Given the description of an element on the screen output the (x, y) to click on. 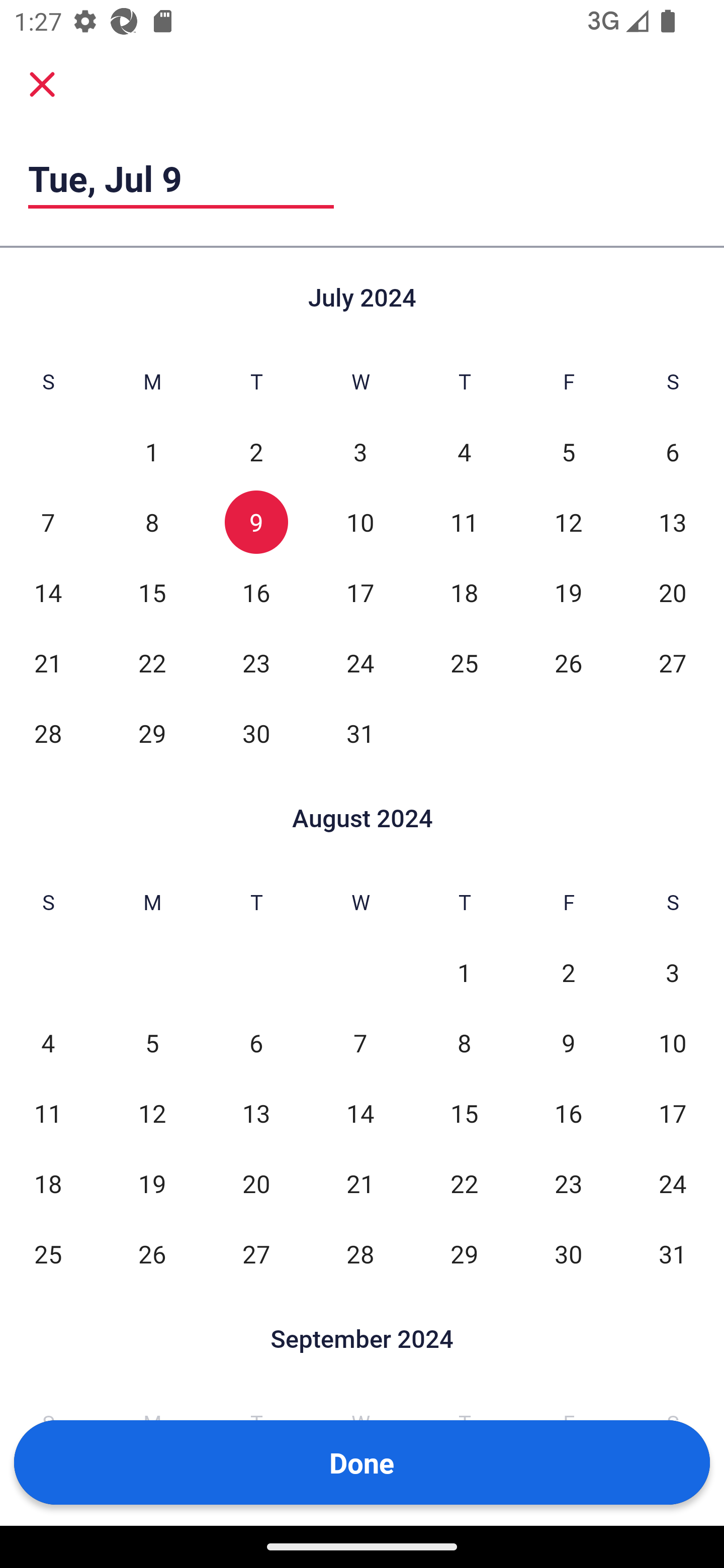
Cancel (42, 84)
Tue, Jul 9 (180, 178)
1 Mon, Jul 1, Not Selected (152, 452)
2 Tue, Jul 2, Not Selected (256, 452)
3 Wed, Jul 3, Not Selected (360, 452)
4 Thu, Jul 4, Not Selected (464, 452)
5 Fri, Jul 5, Not Selected (568, 452)
6 Sat, Jul 6, Not Selected (672, 452)
7 Sun, Jul 7, Not Selected (48, 521)
8 Mon, Jul 8, Not Selected (152, 521)
9 Tue, Jul 9, Selected (256, 521)
10 Wed, Jul 10, Not Selected (360, 521)
11 Thu, Jul 11, Not Selected (464, 521)
12 Fri, Jul 12, Not Selected (568, 521)
13 Sat, Jul 13, Not Selected (672, 521)
14 Sun, Jul 14, Not Selected (48, 591)
15 Mon, Jul 15, Not Selected (152, 591)
16 Tue, Jul 16, Not Selected (256, 591)
17 Wed, Jul 17, Not Selected (360, 591)
18 Thu, Jul 18, Not Selected (464, 591)
19 Fri, Jul 19, Not Selected (568, 591)
20 Sat, Jul 20, Not Selected (672, 591)
21 Sun, Jul 21, Not Selected (48, 662)
22 Mon, Jul 22, Not Selected (152, 662)
23 Tue, Jul 23, Not Selected (256, 662)
24 Wed, Jul 24, Not Selected (360, 662)
25 Thu, Jul 25, Not Selected (464, 662)
26 Fri, Jul 26, Not Selected (568, 662)
27 Sat, Jul 27, Not Selected (672, 662)
28 Sun, Jul 28, Not Selected (48, 732)
29 Mon, Jul 29, Not Selected (152, 732)
30 Tue, Jul 30, Not Selected (256, 732)
31 Wed, Jul 31, Not Selected (360, 732)
1 Thu, Aug 1, Not Selected (464, 972)
2 Fri, Aug 2, Not Selected (568, 972)
3 Sat, Aug 3, Not Selected (672, 972)
4 Sun, Aug 4, Not Selected (48, 1043)
5 Mon, Aug 5, Not Selected (152, 1043)
6 Tue, Aug 6, Not Selected (256, 1043)
7 Wed, Aug 7, Not Selected (360, 1043)
8 Thu, Aug 8, Not Selected (464, 1043)
9 Fri, Aug 9, Not Selected (568, 1043)
10 Sat, Aug 10, Not Selected (672, 1043)
11 Sun, Aug 11, Not Selected (48, 1112)
12 Mon, Aug 12, Not Selected (152, 1112)
13 Tue, Aug 13, Not Selected (256, 1112)
14 Wed, Aug 14, Not Selected (360, 1112)
15 Thu, Aug 15, Not Selected (464, 1112)
16 Fri, Aug 16, Not Selected (568, 1112)
17 Sat, Aug 17, Not Selected (672, 1112)
18 Sun, Aug 18, Not Selected (48, 1182)
19 Mon, Aug 19, Not Selected (152, 1182)
20 Tue, Aug 20, Not Selected (256, 1182)
21 Wed, Aug 21, Not Selected (360, 1182)
22 Thu, Aug 22, Not Selected (464, 1182)
23 Fri, Aug 23, Not Selected (568, 1182)
24 Sat, Aug 24, Not Selected (672, 1182)
25 Sun, Aug 25, Not Selected (48, 1253)
26 Mon, Aug 26, Not Selected (152, 1253)
27 Tue, Aug 27, Not Selected (256, 1253)
28 Wed, Aug 28, Not Selected (360, 1253)
29 Thu, Aug 29, Not Selected (464, 1253)
30 Fri, Aug 30, Not Selected (568, 1253)
31 Sat, Aug 31, Not Selected (672, 1253)
Done Button Done (361, 1462)
